Given the description of an element on the screen output the (x, y) to click on. 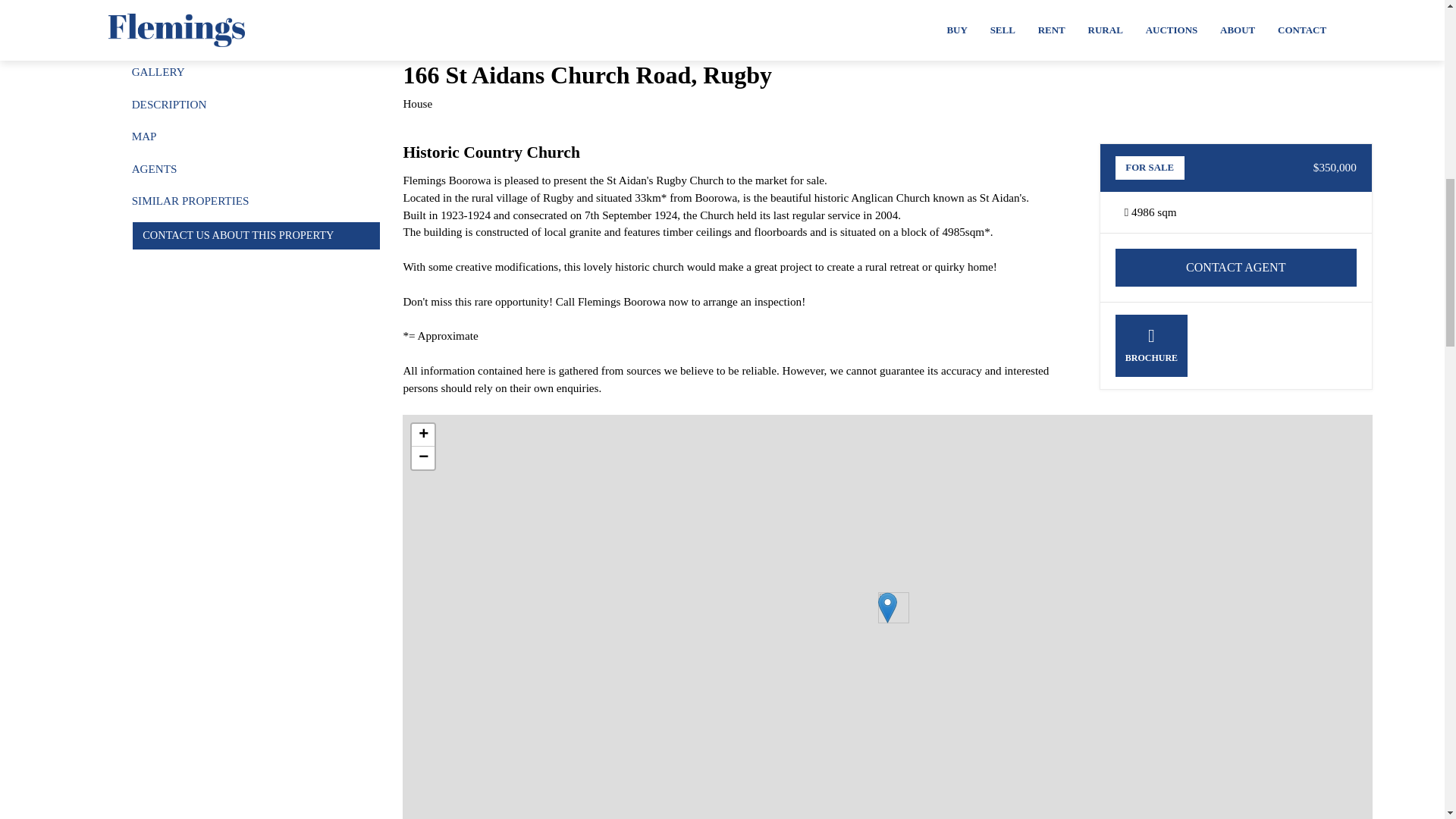
Zoom in (422, 435)
Zoom out (422, 457)
Brochure (1151, 345)
